Given the description of an element on the screen output the (x, y) to click on. 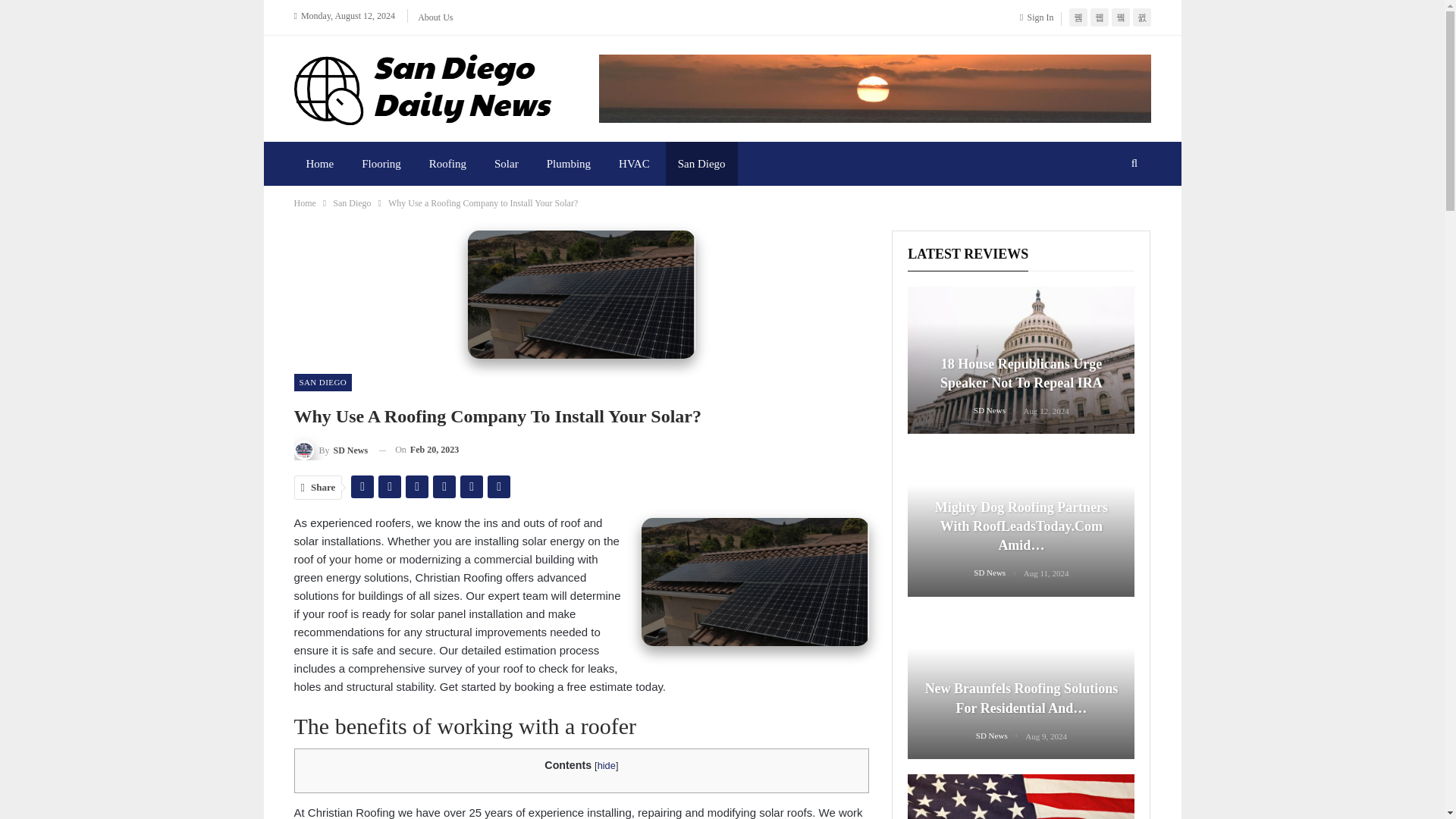
Home (304, 202)
Flooring (381, 163)
San Diego (352, 202)
By SD News (331, 449)
Browse Author Articles (331, 449)
Plumbing (568, 163)
San Diego (701, 163)
Solar (506, 163)
Roofing (447, 163)
Home (320, 163)
